Given the description of an element on the screen output the (x, y) to click on. 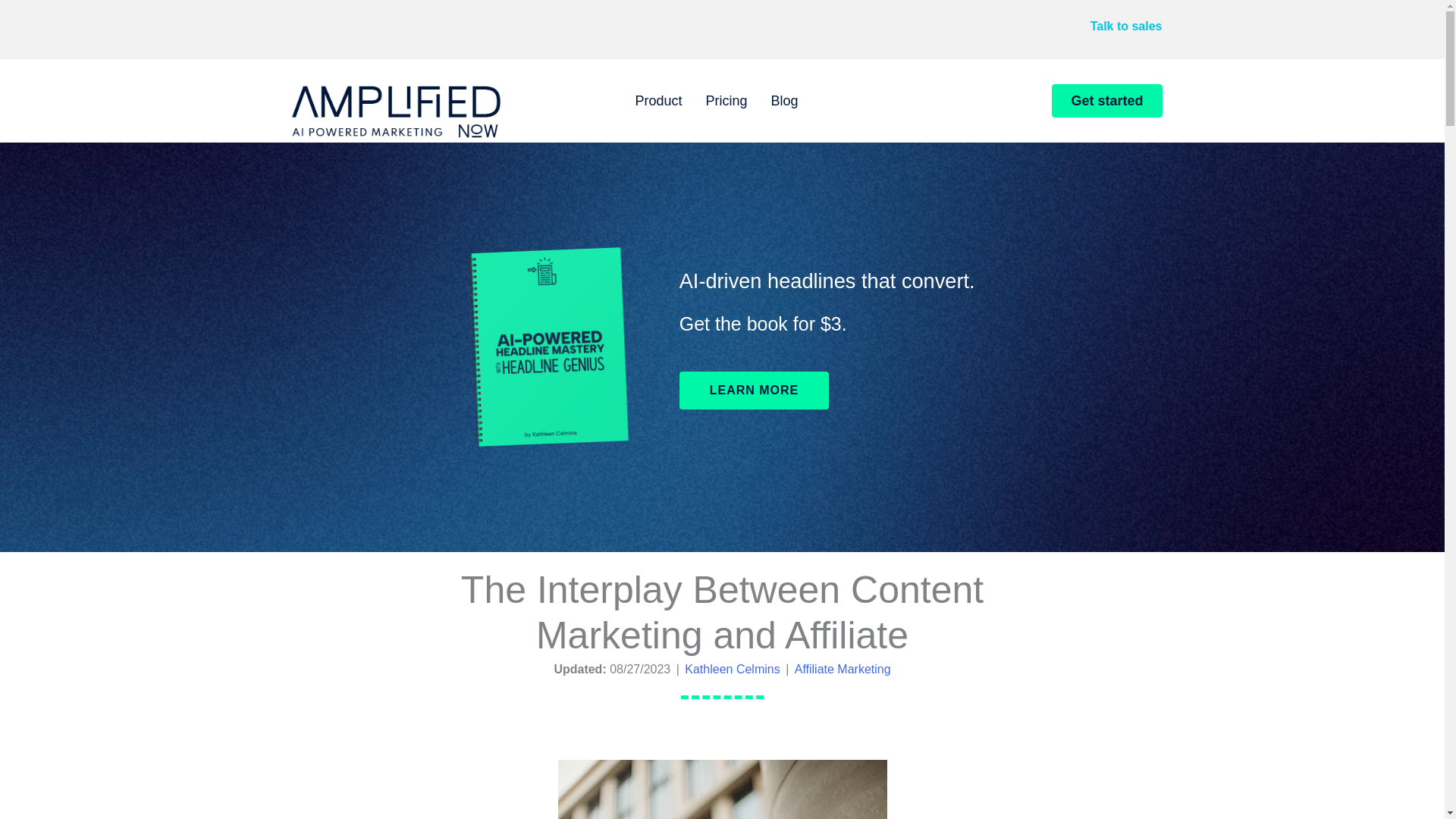
Product (658, 100)
Talk to sales (1125, 25)
Kathleen Celmins (731, 668)
Blog (784, 100)
Click Here (754, 390)
Pricing (726, 100)
Final Files Amplified Now-10 (395, 108)
the-interplay-between-content-marketing-and-affiliate.jpeg (721, 789)
LEARN MORE (754, 390)
Affiliate Marketing (842, 668)
Get started (1106, 100)
